Given the description of an element on the screen output the (x, y) to click on. 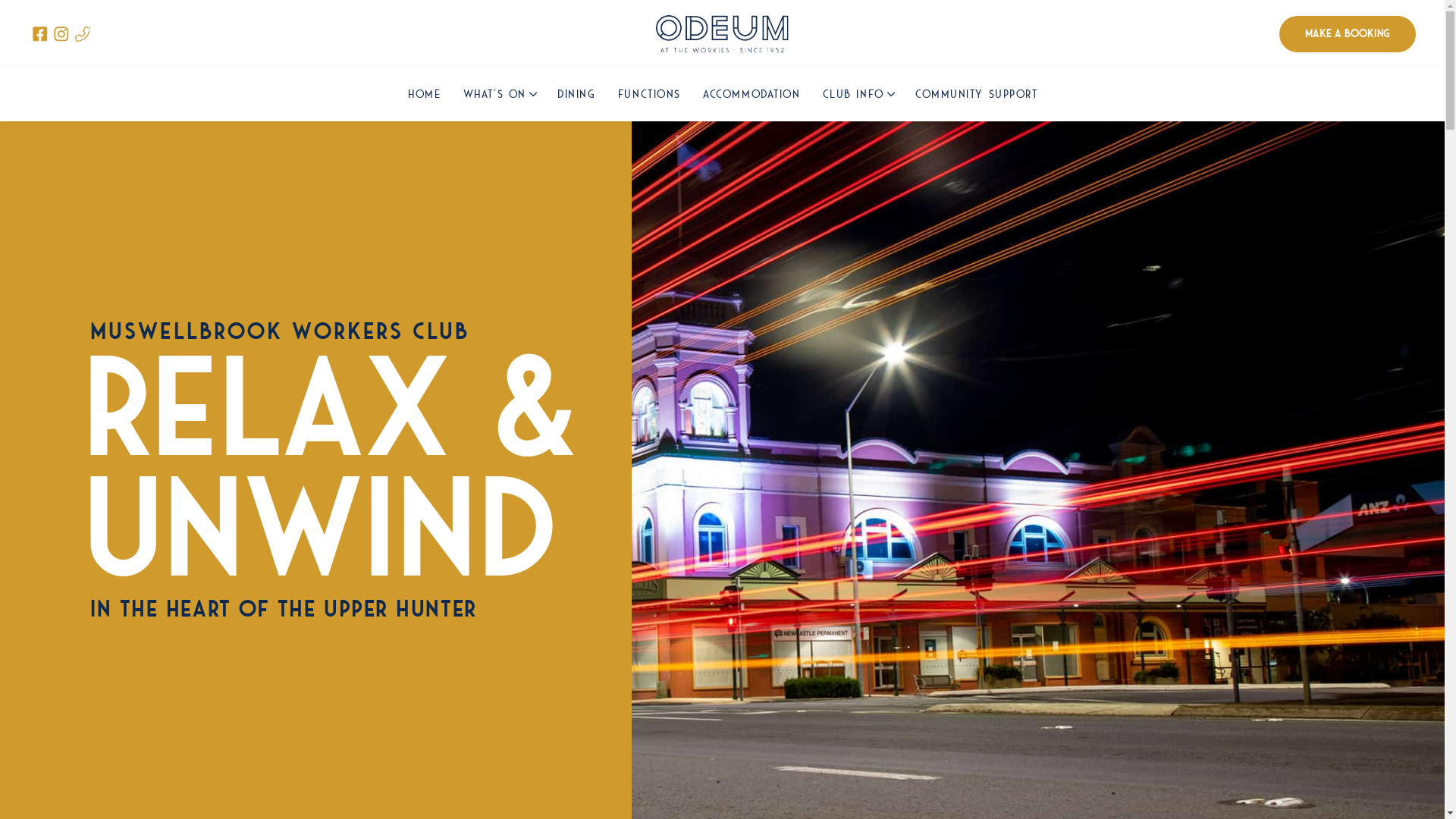
CLUB INFO Element type: text (856, 94)
FUNCTIONS Element type: text (647, 94)
COMMUNITY SUPPORT Element type: text (975, 94)
ACCOMMODATION Element type: text (751, 94)
DINING Element type: text (576, 94)
HOME Element type: text (423, 94)
